Given the description of an element on the screen output the (x, y) to click on. 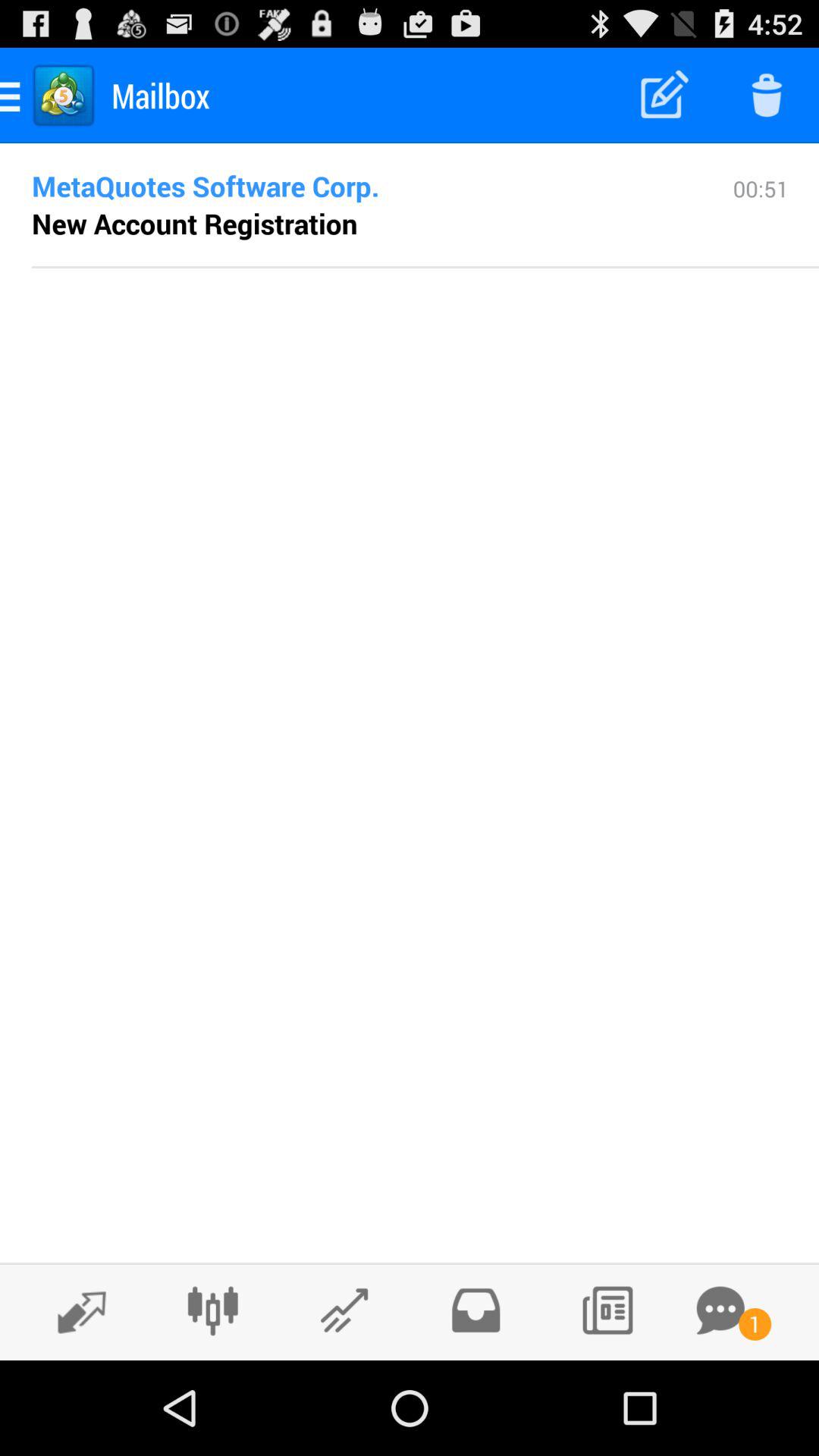
tap metaquotes software corp. item (358, 185)
